Given the description of an element on the screen output the (x, y) to click on. 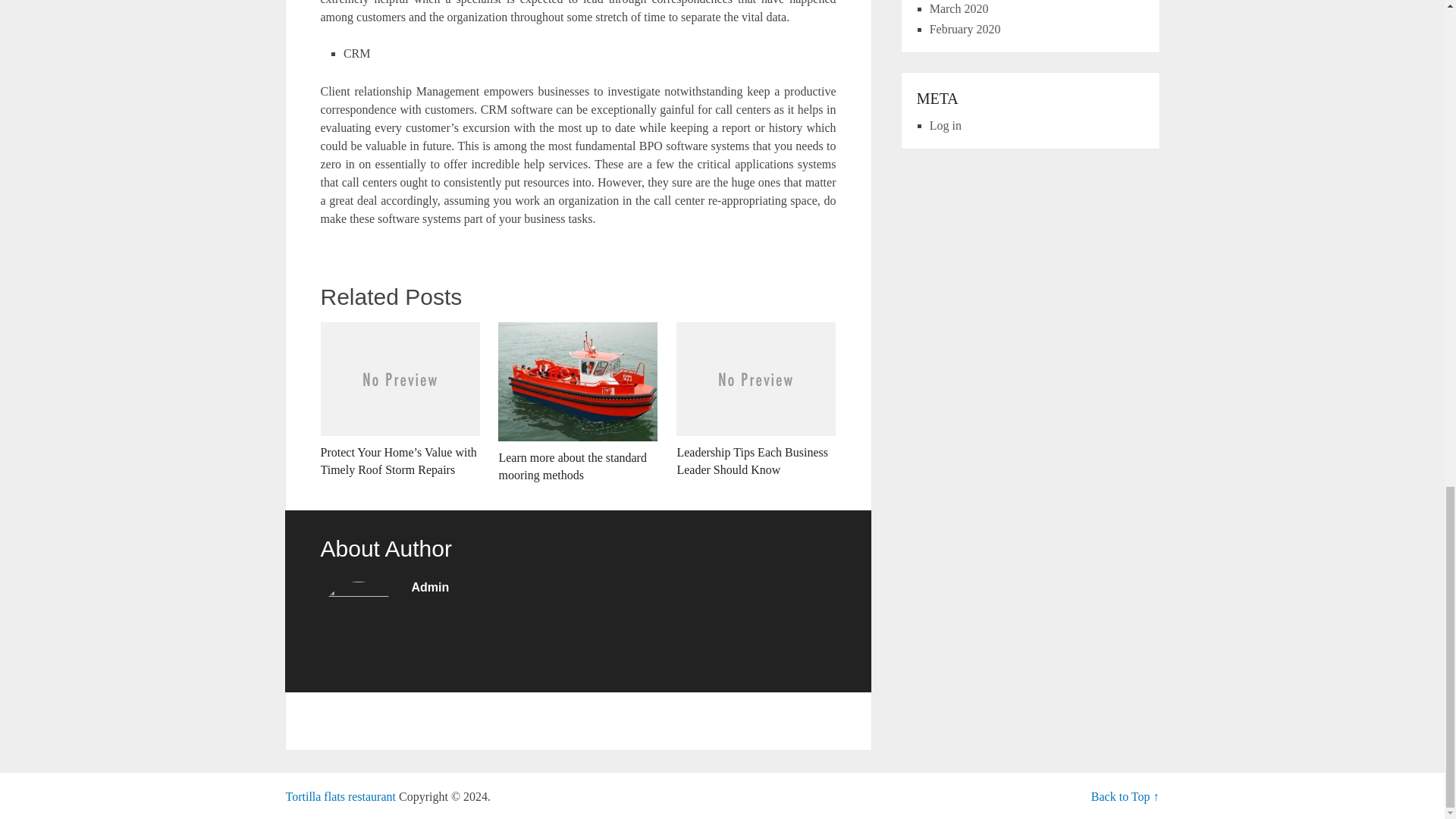
Leadership Tips Each Business Leader Should Know (756, 400)
Leadership Tips Each Business Leader Should Know (756, 400)
Learn more about the standard mooring methods (577, 403)
Learn more about the standard mooring methods (577, 403)
